Given the description of an element on the screen output the (x, y) to click on. 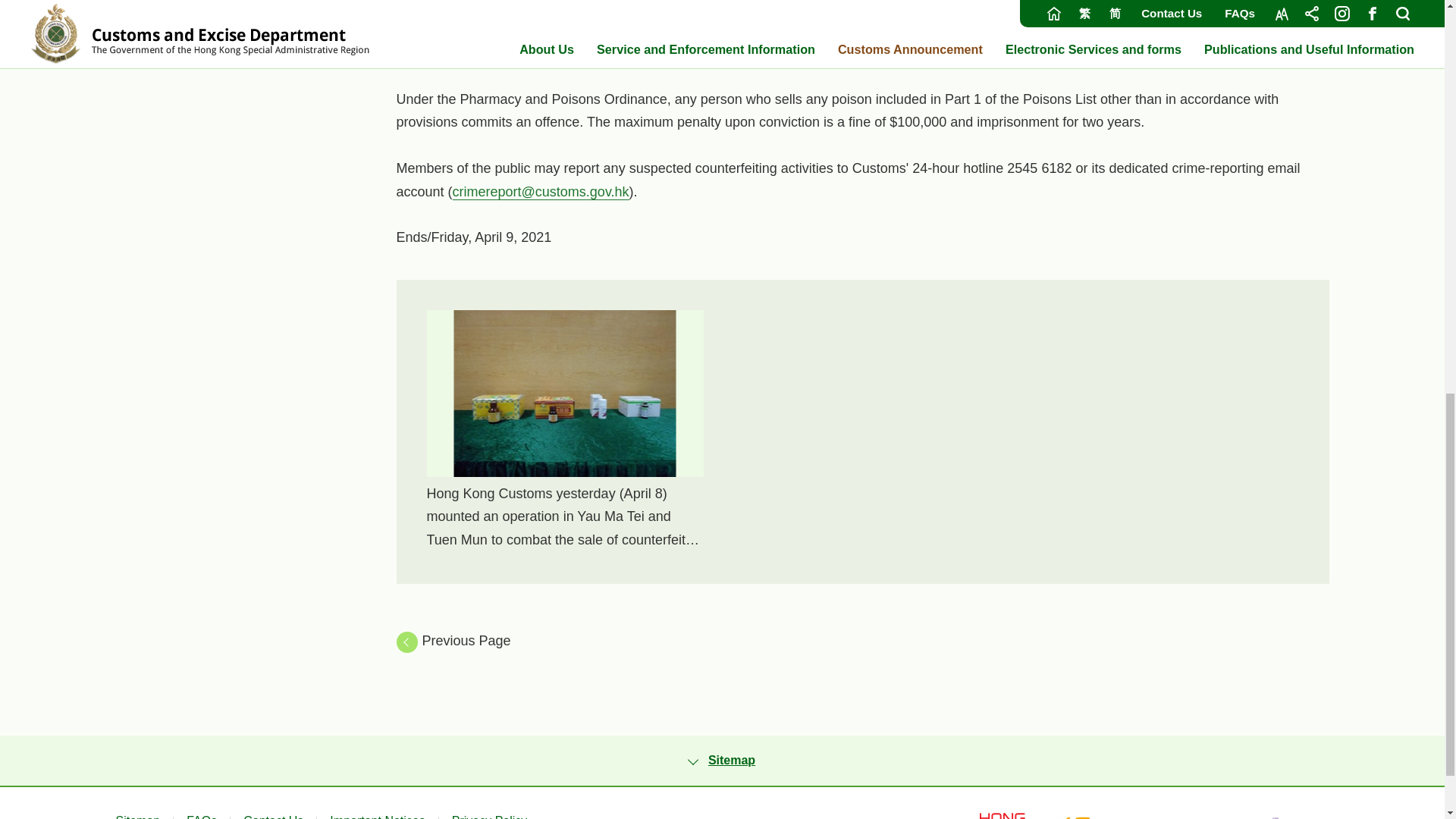
Caring Organisation, This link will open in new window (1097, 816)
